Given the description of an element on the screen output the (x, y) to click on. 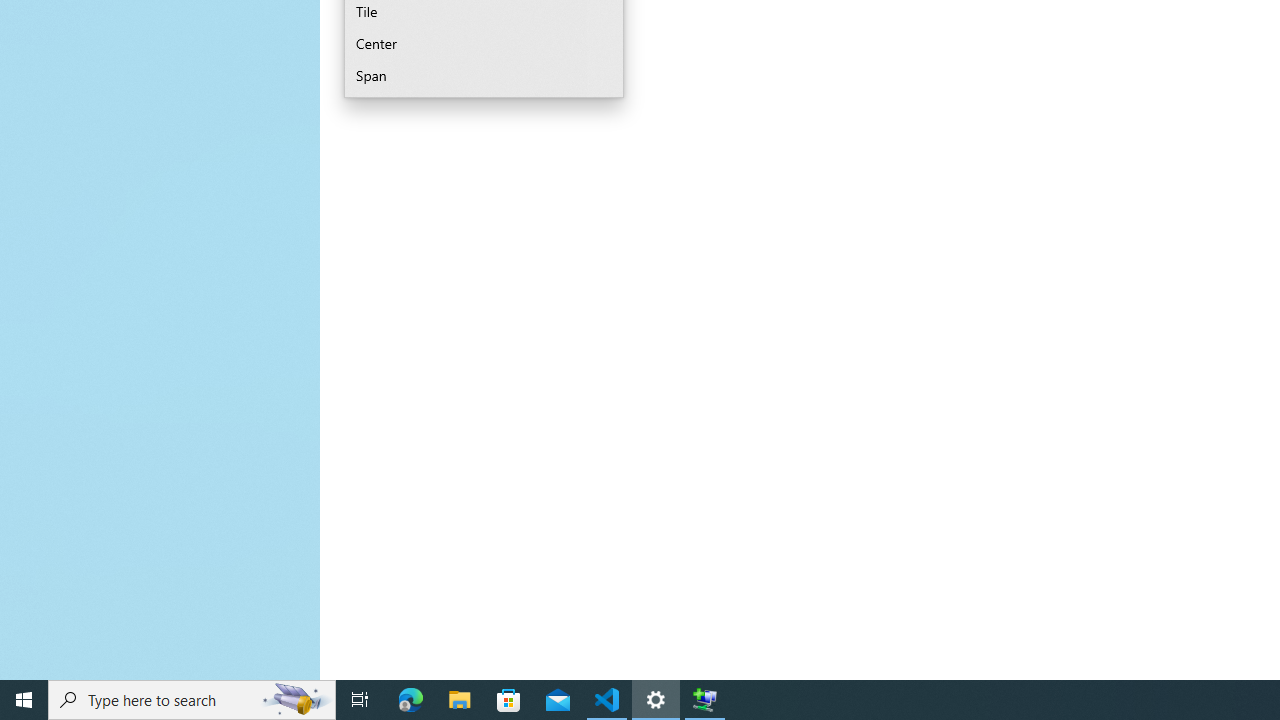
Settings - 1 running window (656, 699)
Search highlights icon opens search home window (295, 699)
File Explorer (460, 699)
Microsoft Store (509, 699)
Visual Studio Code - 1 running window (607, 699)
Type here to search (191, 699)
Span (484, 76)
Extensible Wizards Host Process - 1 running window (704, 699)
Microsoft Edge (411, 699)
Center (484, 44)
Task View (359, 699)
